Given the description of an element on the screen output the (x, y) to click on. 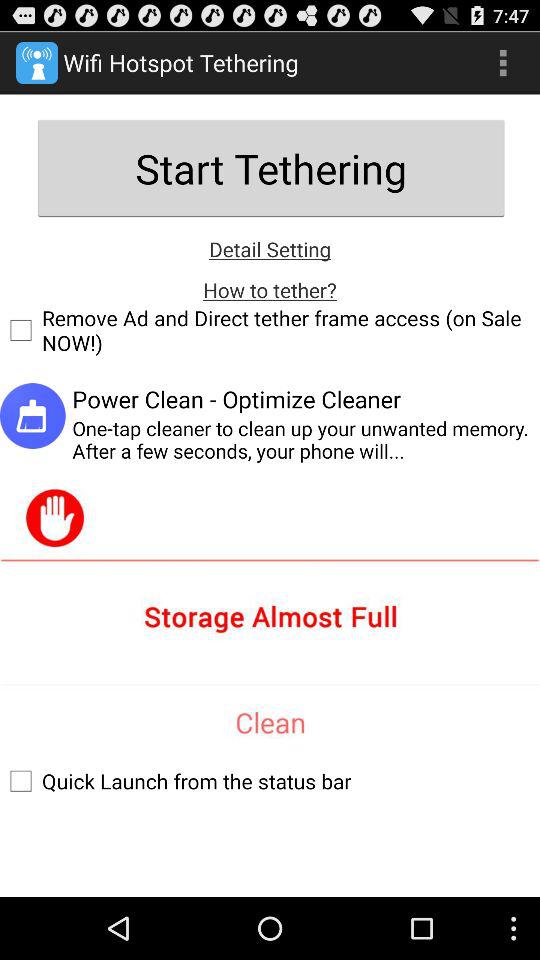
show menu (503, 62)
